Given the description of an element on the screen output the (x, y) to click on. 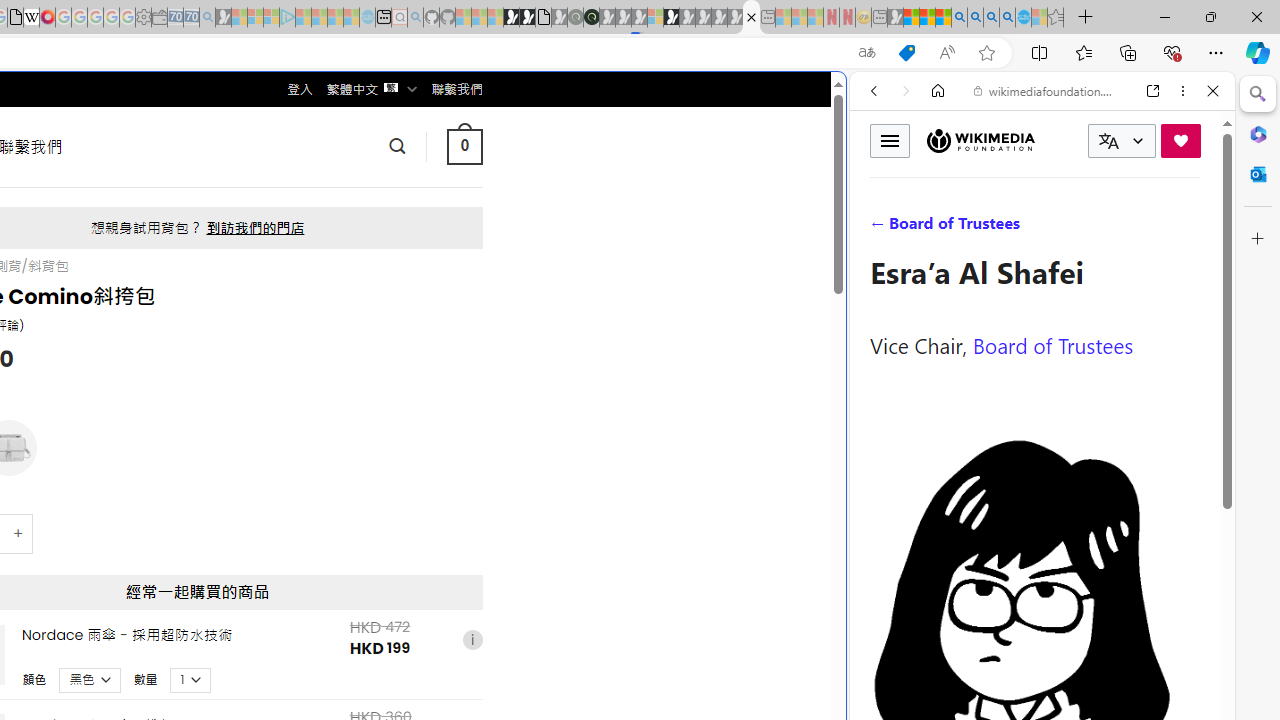
Search Filter, WEB (882, 228)
2009 Bing officially replaced Live Search on June 3 - Search (975, 17)
Target page - Wikipedia (31, 17)
Play Cave FRVR in your browser | Games from Microsoft Start (343, 426)
CURRENT LANGUAGE: (1121, 141)
i (472, 639)
Wikimedia Foundation (980, 141)
Microsoft Start Gaming - Sleeping (223, 17)
